Given the description of an element on the screen output the (x, y) to click on. 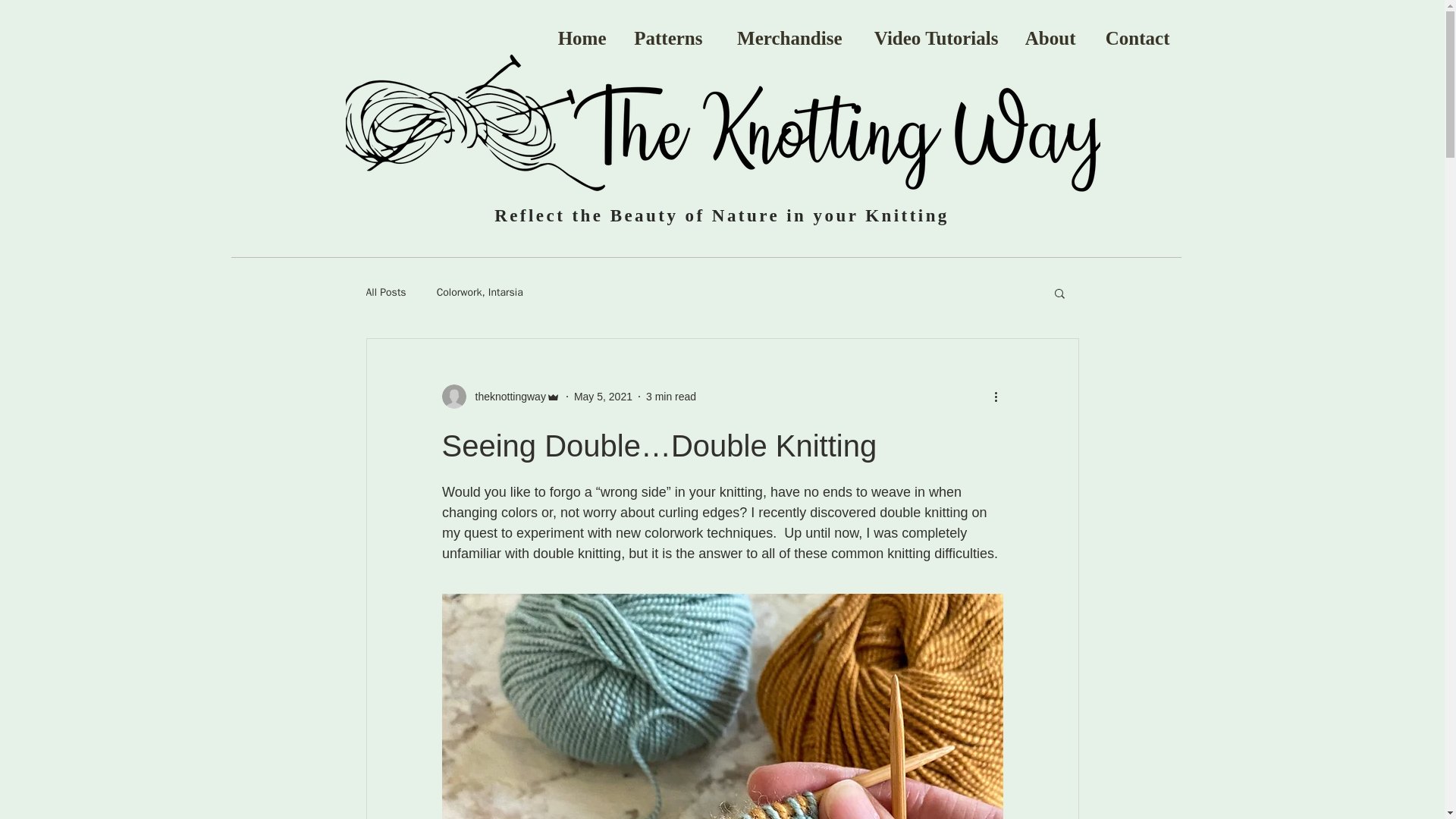
All Posts (385, 292)
3 min read (670, 395)
Home (577, 38)
Patterns (665, 38)
May 5, 2021 (602, 395)
About (1048, 38)
Colorwork, Intarsia (479, 292)
theknottingway (504, 396)
Contact (1133, 38)
Video Tutorials (931, 38)
Merchandise (783, 38)
